Given the description of an element on the screen output the (x, y) to click on. 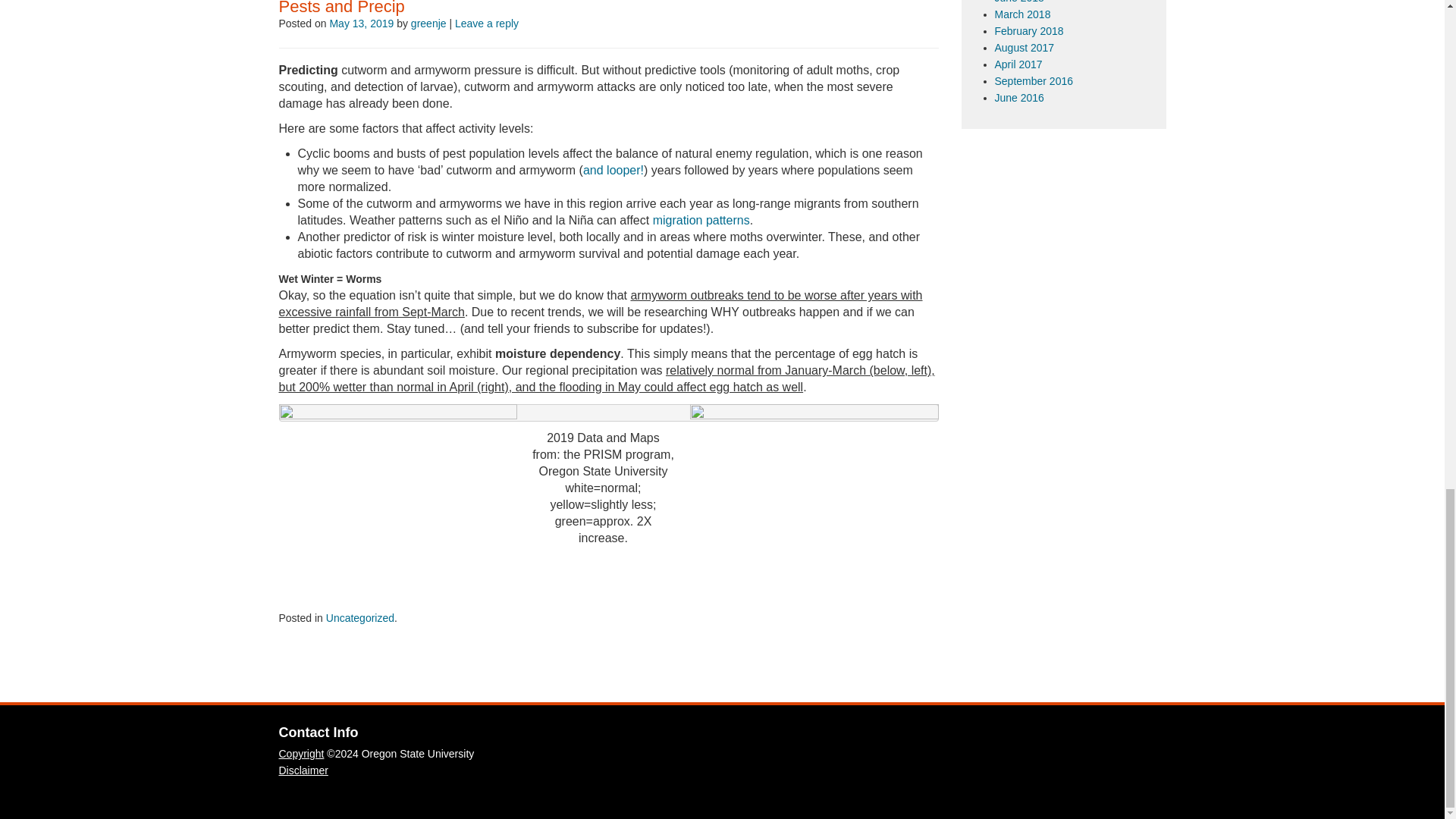
May 13, 2019 (361, 23)
12:06 PM (361, 23)
Permalink to Pests and Precip (341, 7)
Leave a reply (486, 23)
Pests and Precip (341, 7)
migration patterns (700, 219)
View all posts by greenje (428, 23)
and looper! (613, 169)
Uncategorized (360, 617)
greenje (428, 23)
